Given the description of an element on the screen output the (x, y) to click on. 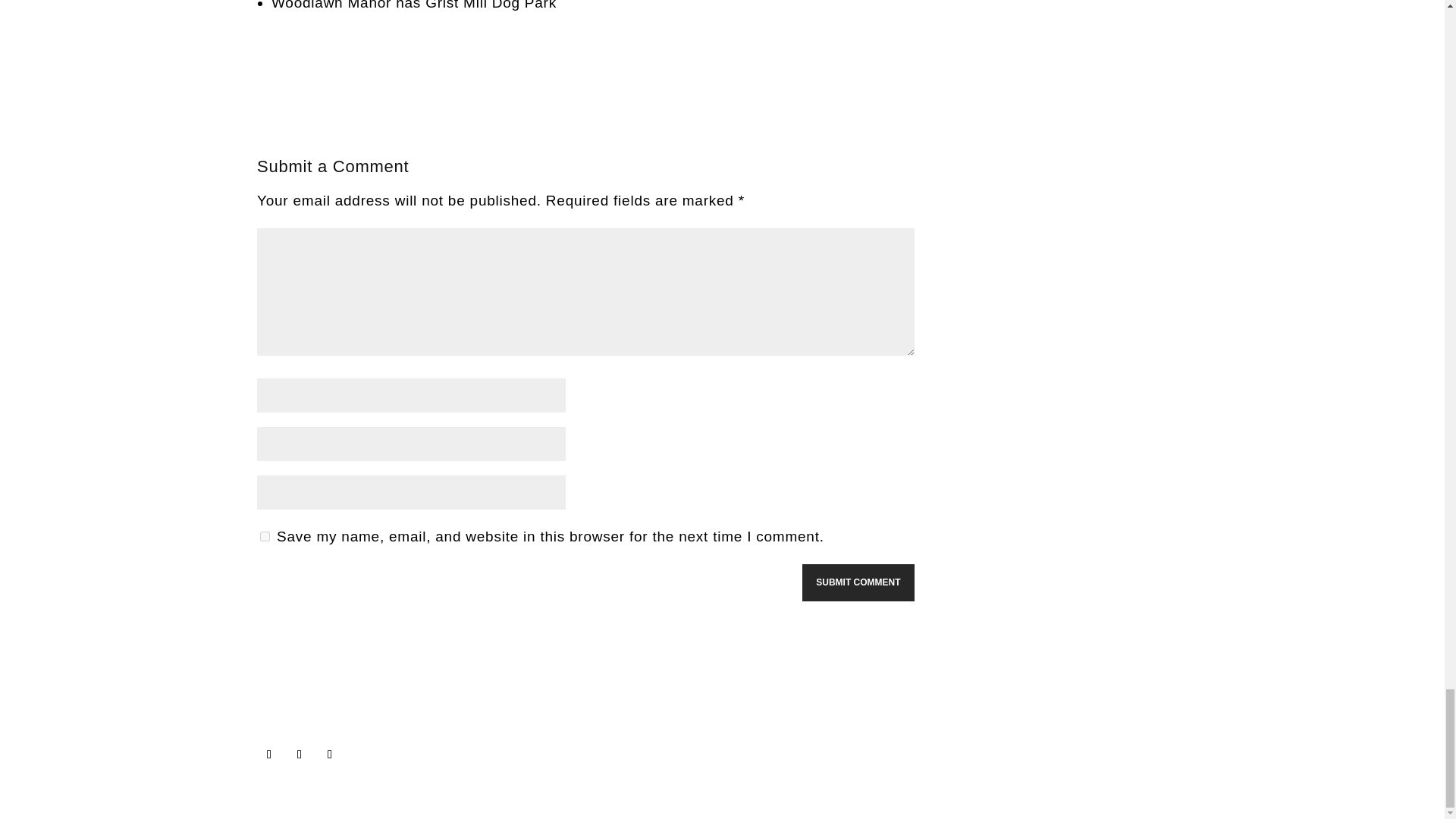
Follow on Youtube (298, 754)
Submit Comment (858, 582)
Follow on Facebook (269, 754)
yes (264, 536)
Follow on Instagram (329, 754)
